Given the description of an element on the screen output the (x, y) to click on. 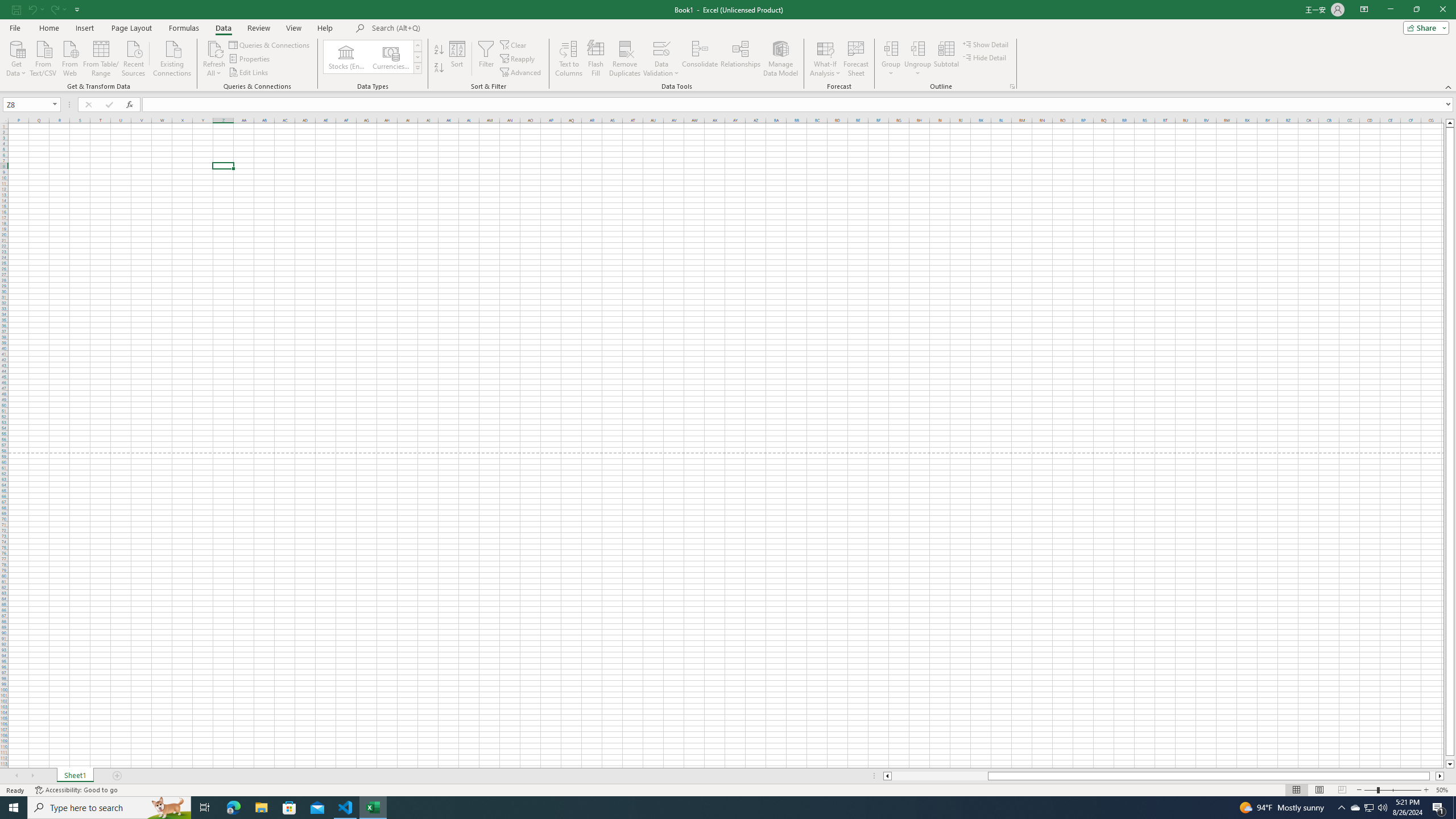
Recent Sources (133, 57)
Currencies (English) (390, 56)
Hide Detail (985, 56)
Get Data (16, 57)
